Given the description of an element on the screen output the (x, y) to click on. 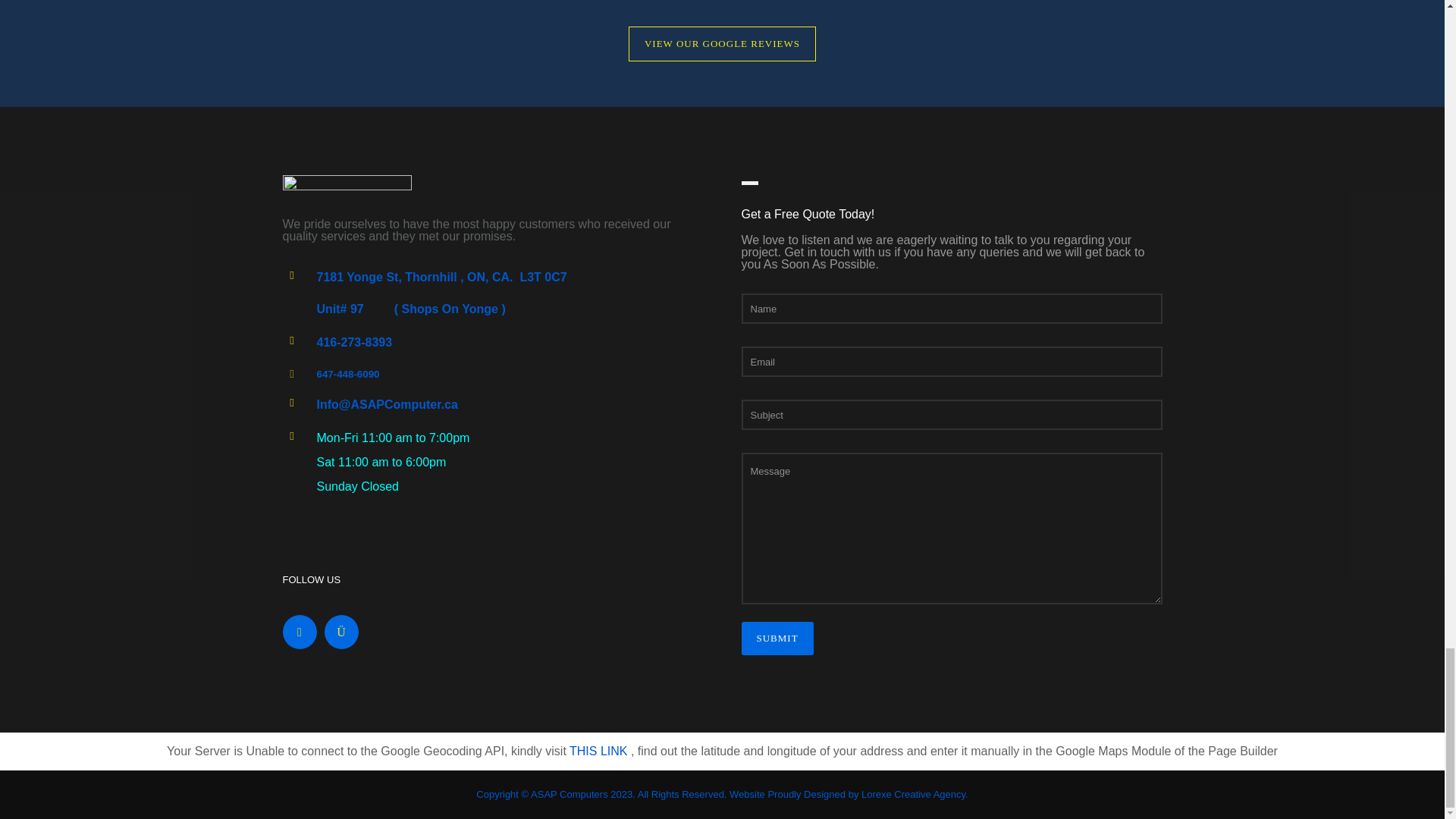
Submit (777, 638)
7181 Yonge St, Thornhill , ON, CA.  L3T 0C7 (442, 277)
VIEW OUR GOOGLE REVIEWS (721, 43)
416-273-8393 (355, 341)
